Given the description of an element on the screen output the (x, y) to click on. 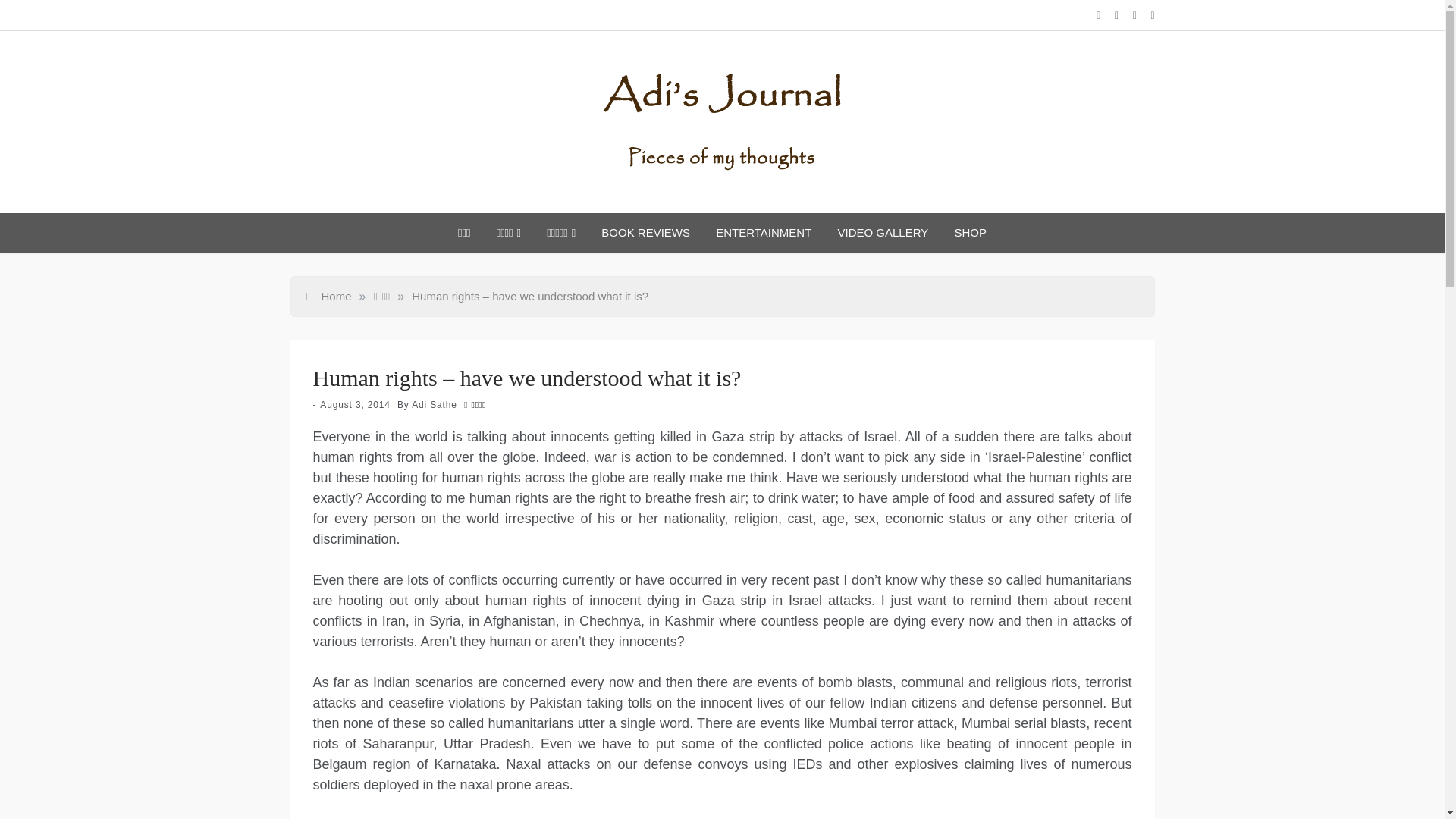
VIDEO GALLERY (882, 232)
Adi Sathe (434, 404)
ENTERTAINMENT (763, 232)
BOOK REVIEWS (645, 232)
SHOP (970, 232)
Adi's Journal (674, 213)
Home (328, 295)
August 3, 2014 (355, 404)
